Given the description of an element on the screen output the (x, y) to click on. 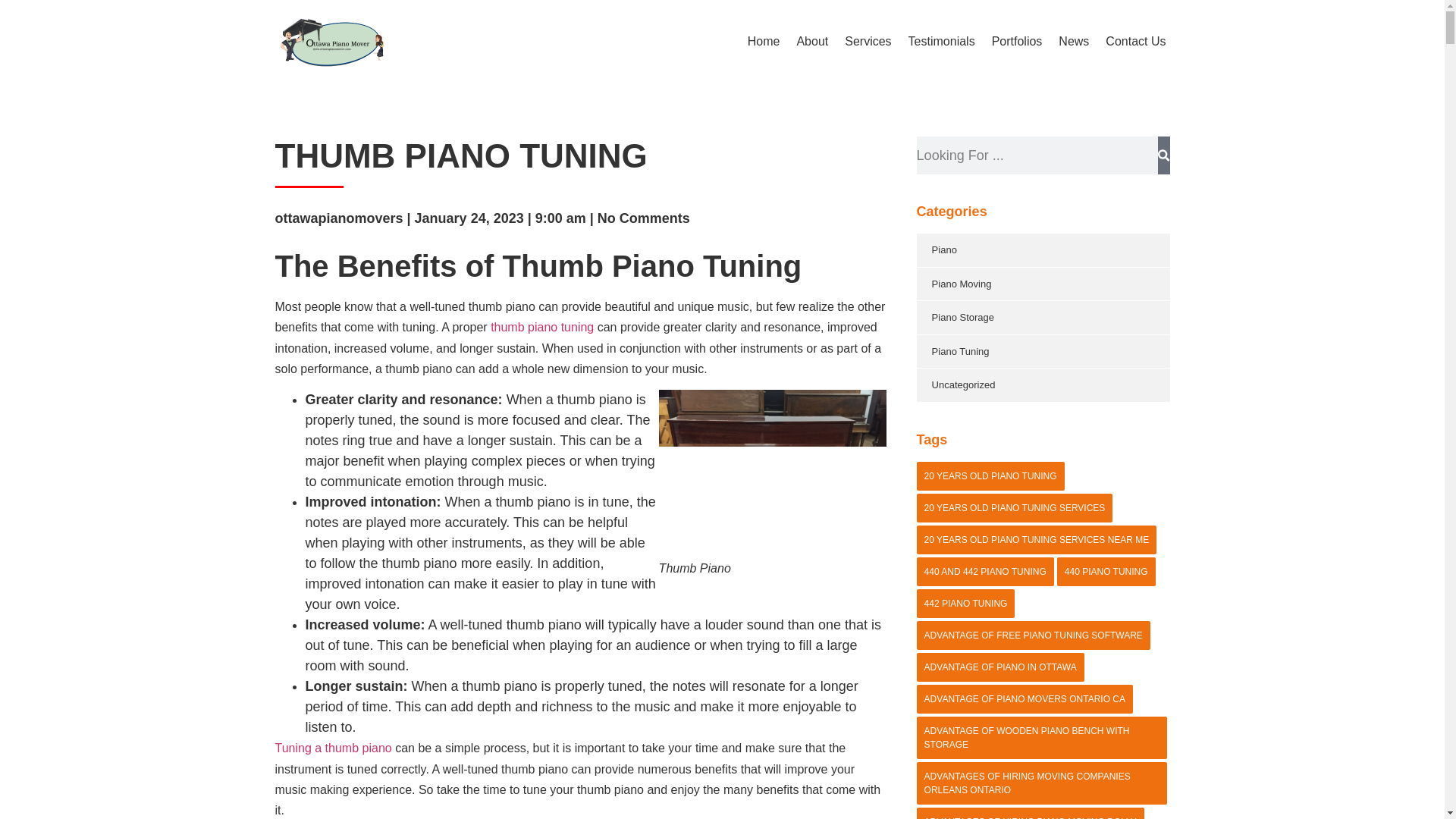
20 YEARS OLD PIANO TUNING (990, 475)
Tuning a thumb piano (333, 748)
About (812, 41)
Piano Moving (1043, 283)
Testimonials (941, 41)
Piano Storage (1043, 317)
Portfolios (1016, 41)
Piano (1043, 249)
thumb piano tuning (542, 327)
440 AND 442 PIANO TUNING (985, 570)
Uncategorized (1043, 385)
Services (867, 41)
20 YEARS OLD PIANO TUNING SERVICES NEAR ME (1037, 538)
Home (764, 41)
440 PIANO TUNING (1106, 570)
